Given the description of an element on the screen output the (x, y) to click on. 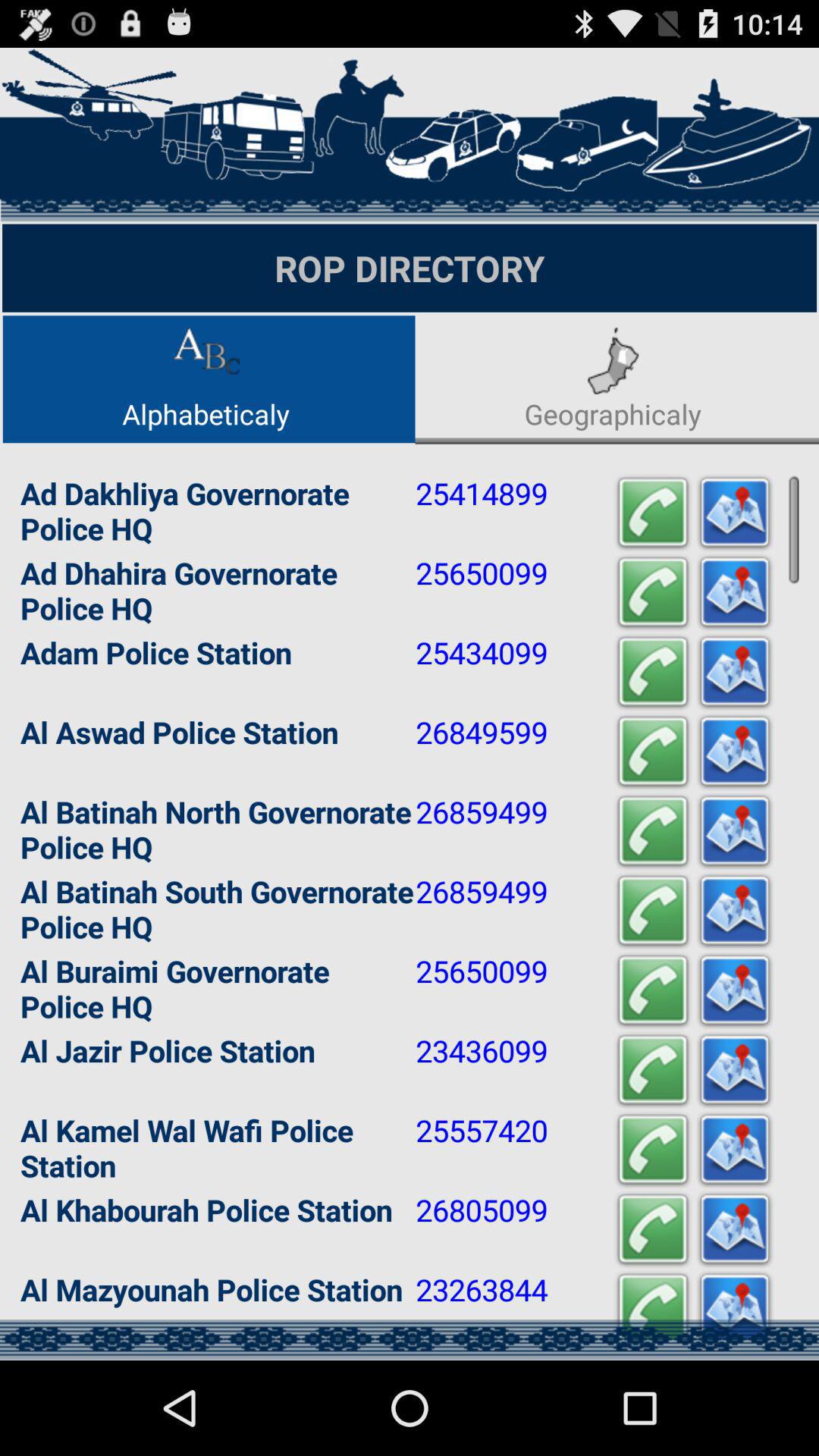
call (652, 910)
